Given the description of an element on the screen output the (x, y) to click on. 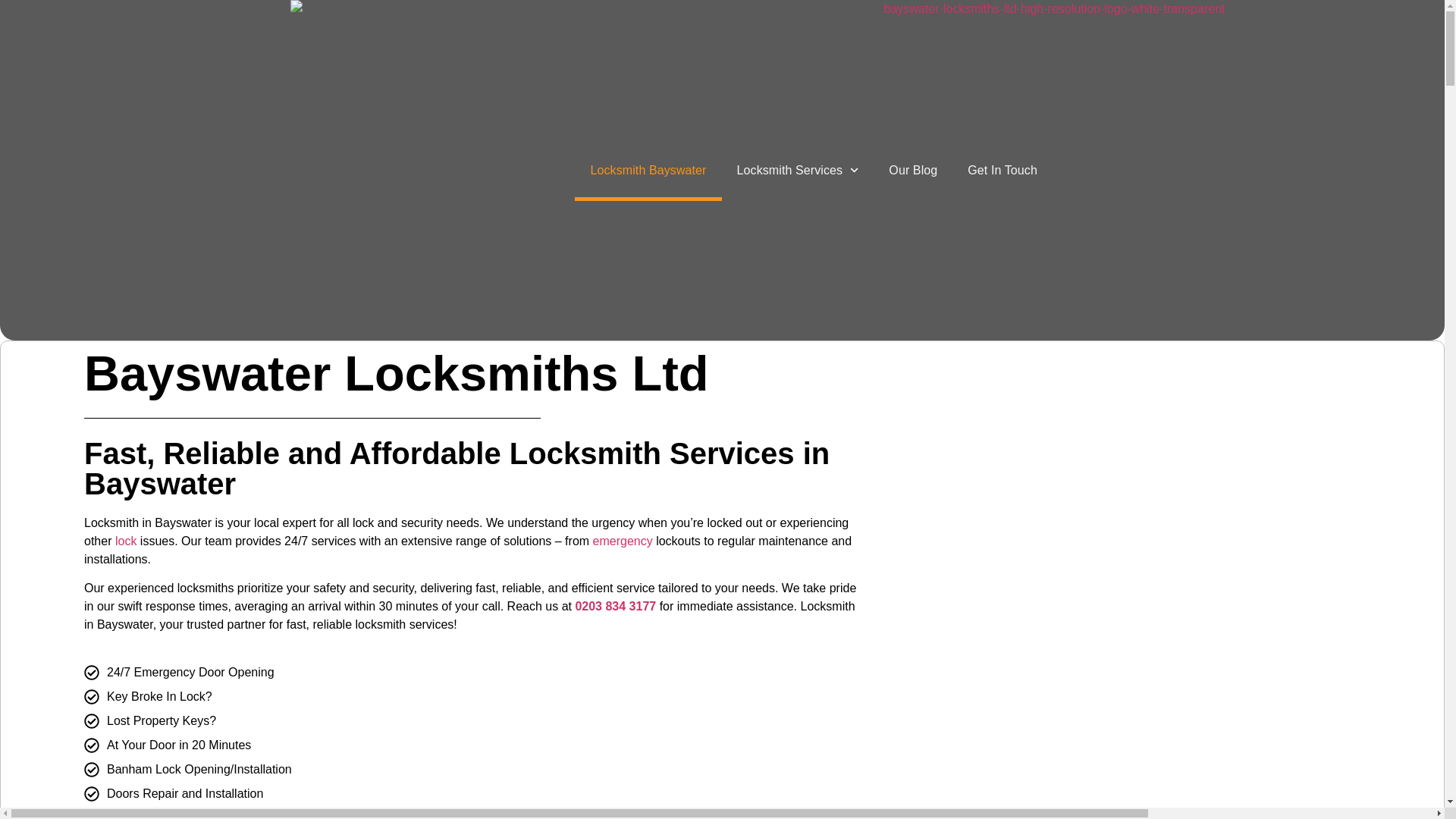
0203 834 3177 (615, 605)
emergency (622, 540)
Get In Touch (1002, 169)
lock (125, 540)
Locksmith Bayswater (647, 169)
Our Blog (912, 169)
Locksmith Services (798, 169)
